Given the description of an element on the screen output the (x, y) to click on. 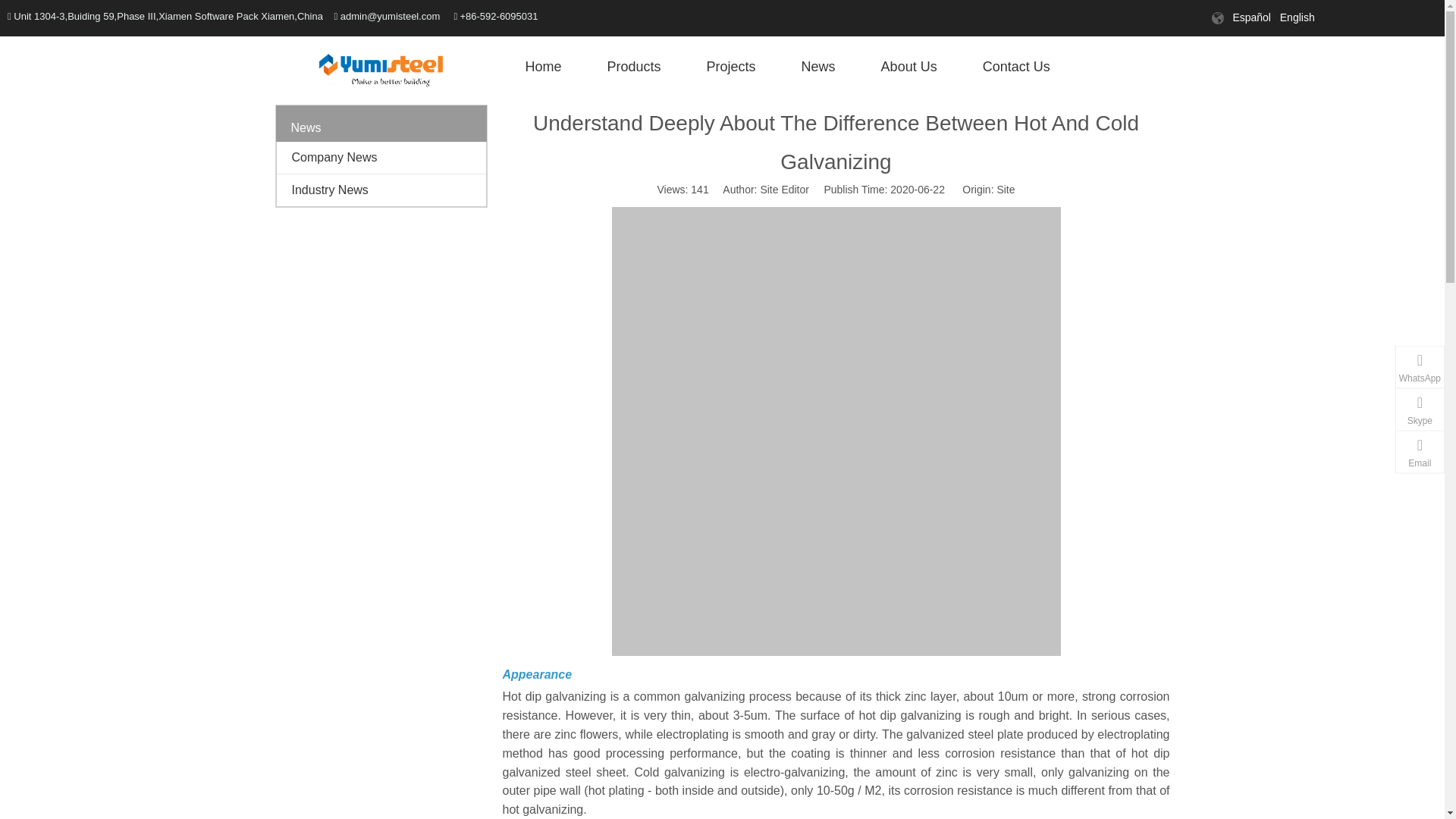
English (1296, 18)
Industry News (380, 190)
Products (634, 66)
News (818, 66)
WechatIMG9429 (380, 70)
Projects (731, 66)
Twitter (1026, 17)
Home (542, 66)
Company News (380, 157)
